Given the description of an element on the screen output the (x, y) to click on. 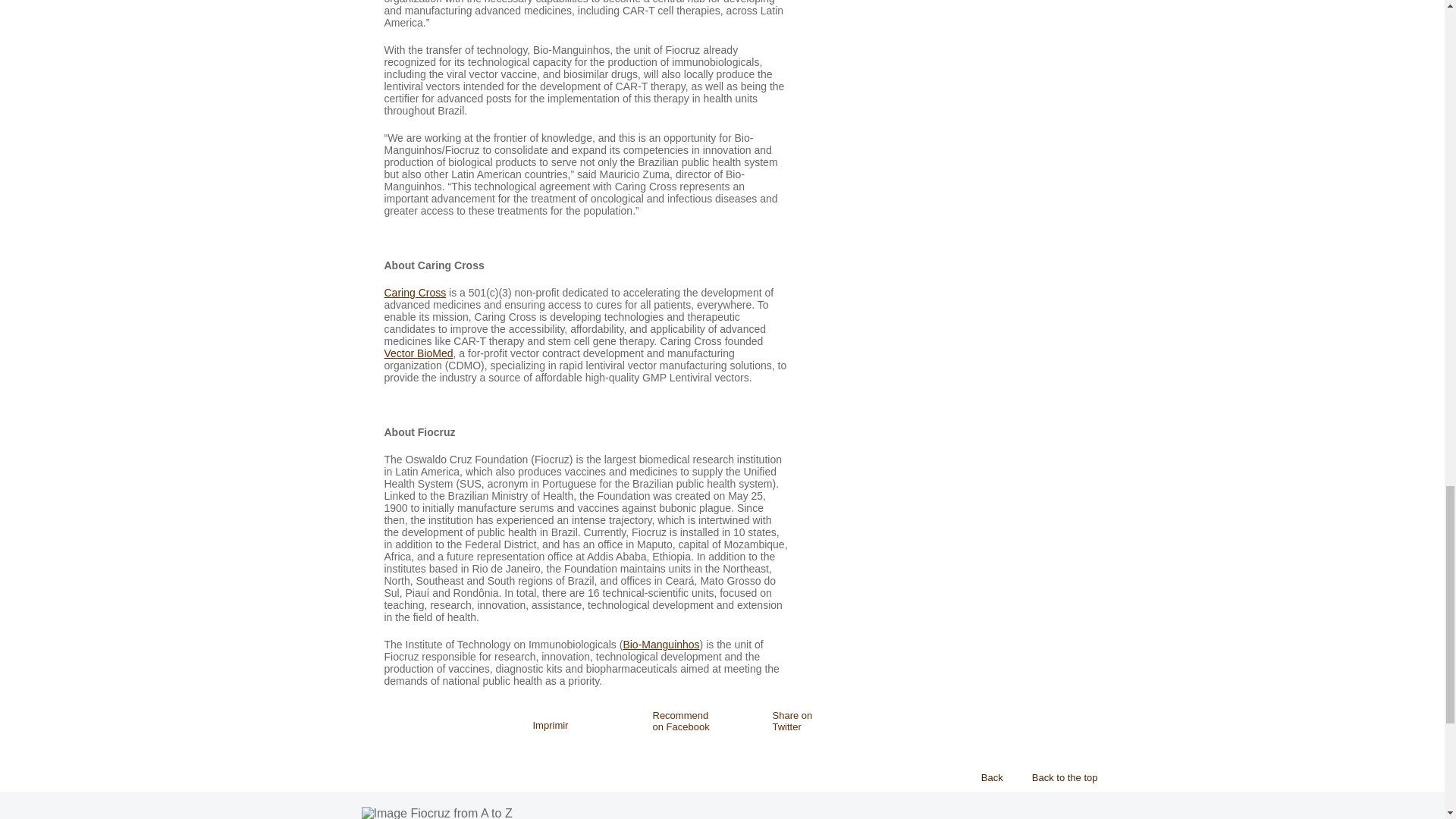
Back (987, 777)
Caring Cross (414, 292)
Imprimir (549, 726)
Bio-Manguinhos (660, 644)
Recommend on Facebook (669, 721)
Back to the top (1060, 777)
Vector BioMed (418, 353)
Link para voltar (987, 777)
Display a printer-friendly version of this page. (549, 726)
Share on Twitter (788, 721)
